Given the description of an element on the screen output the (x, y) to click on. 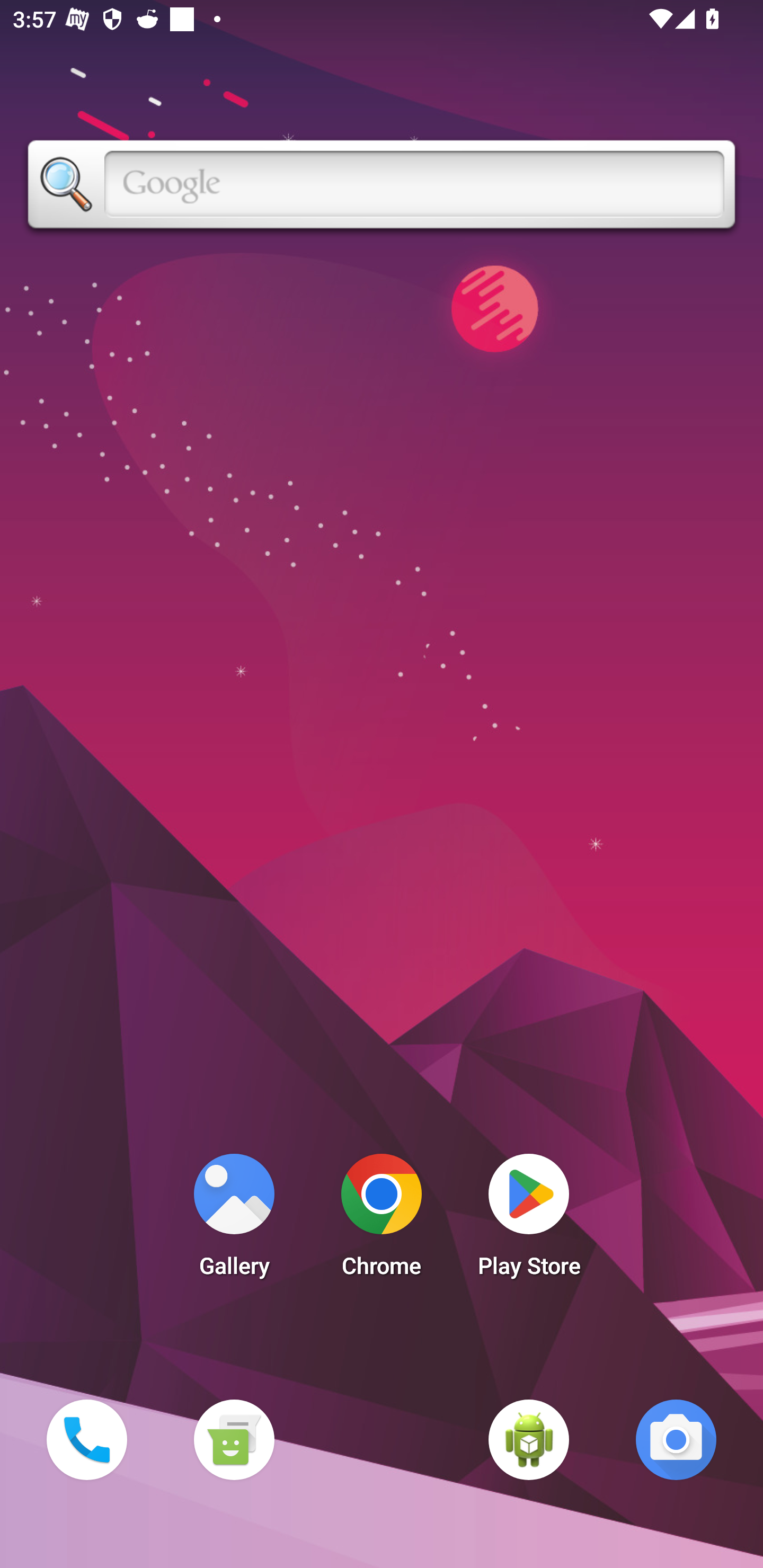
Gallery (233, 1220)
Chrome (381, 1220)
Play Store (528, 1220)
Phone (86, 1439)
Messaging (233, 1439)
WebView Browser Tester (528, 1439)
Camera (676, 1439)
